Given the description of an element on the screen output the (x, y) to click on. 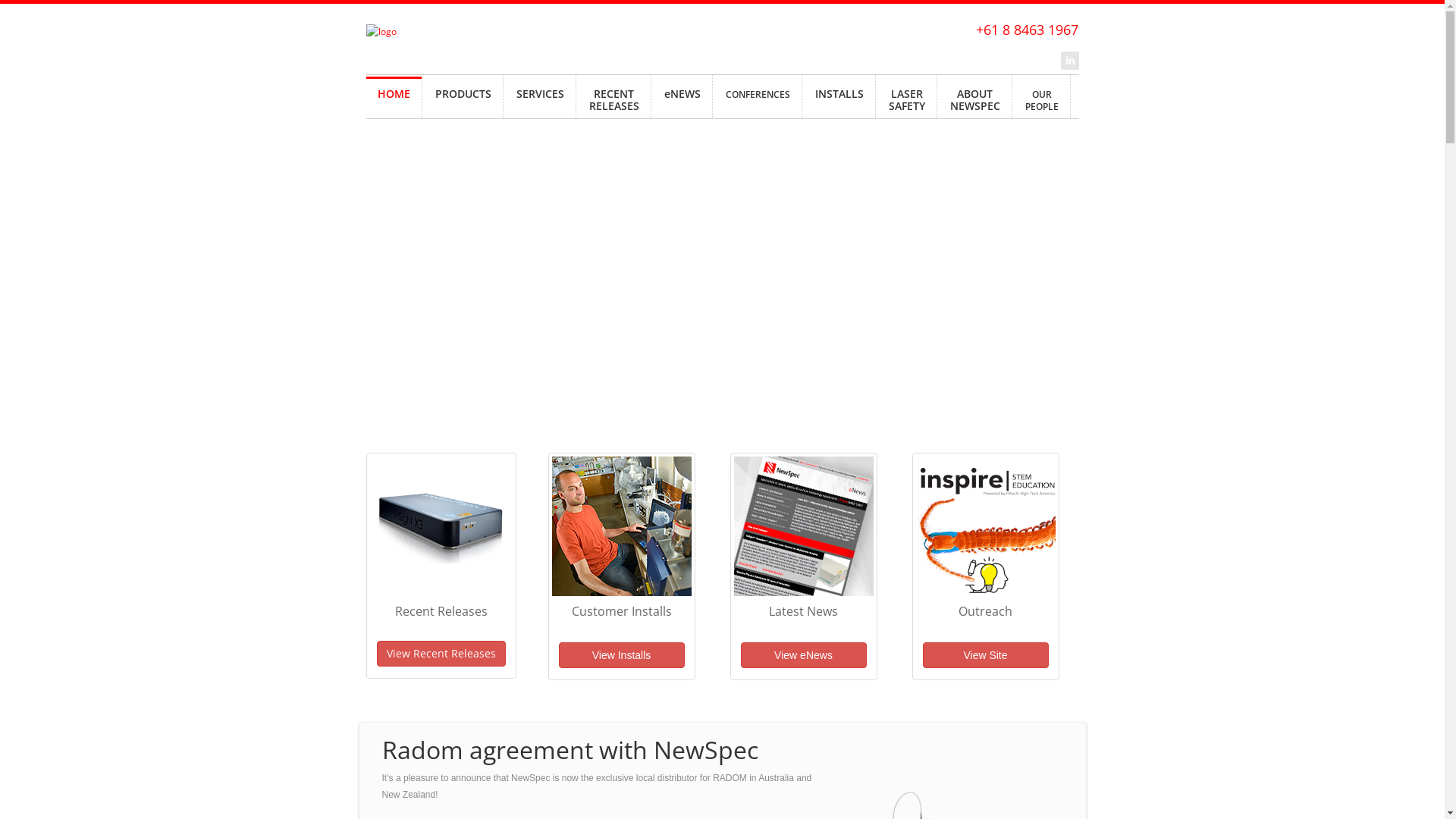
LASER
SAFETY Element type: text (905, 97)
View Recent Releases Element type: text (440, 653)
HOME
  Element type: text (392, 97)
PRODUCTS
  Element type: text (462, 97)
eNEWS
  Element type: text (681, 97)
NewSpec Element type: hover (479, 31)
ABOUT
NEWSPEC Element type: text (974, 97)
View Installs Element type: text (621, 655)
OUR
PEOPLE Element type: text (1041, 97)
INSTALLS
  Element type: text (839, 97)
View Site Element type: text (985, 655)
View eNews Element type: text (803, 655)
RECENT
RELEASES Element type: text (613, 97)
CONFERENCES
  Element type: text (757, 97)
+61 8 8463 1967 Element type: text (1026, 29)
Outreach Element type: text (985, 610)
SERVICES
  Element type: text (540, 97)
